Given the description of an element on the screen output the (x, y) to click on. 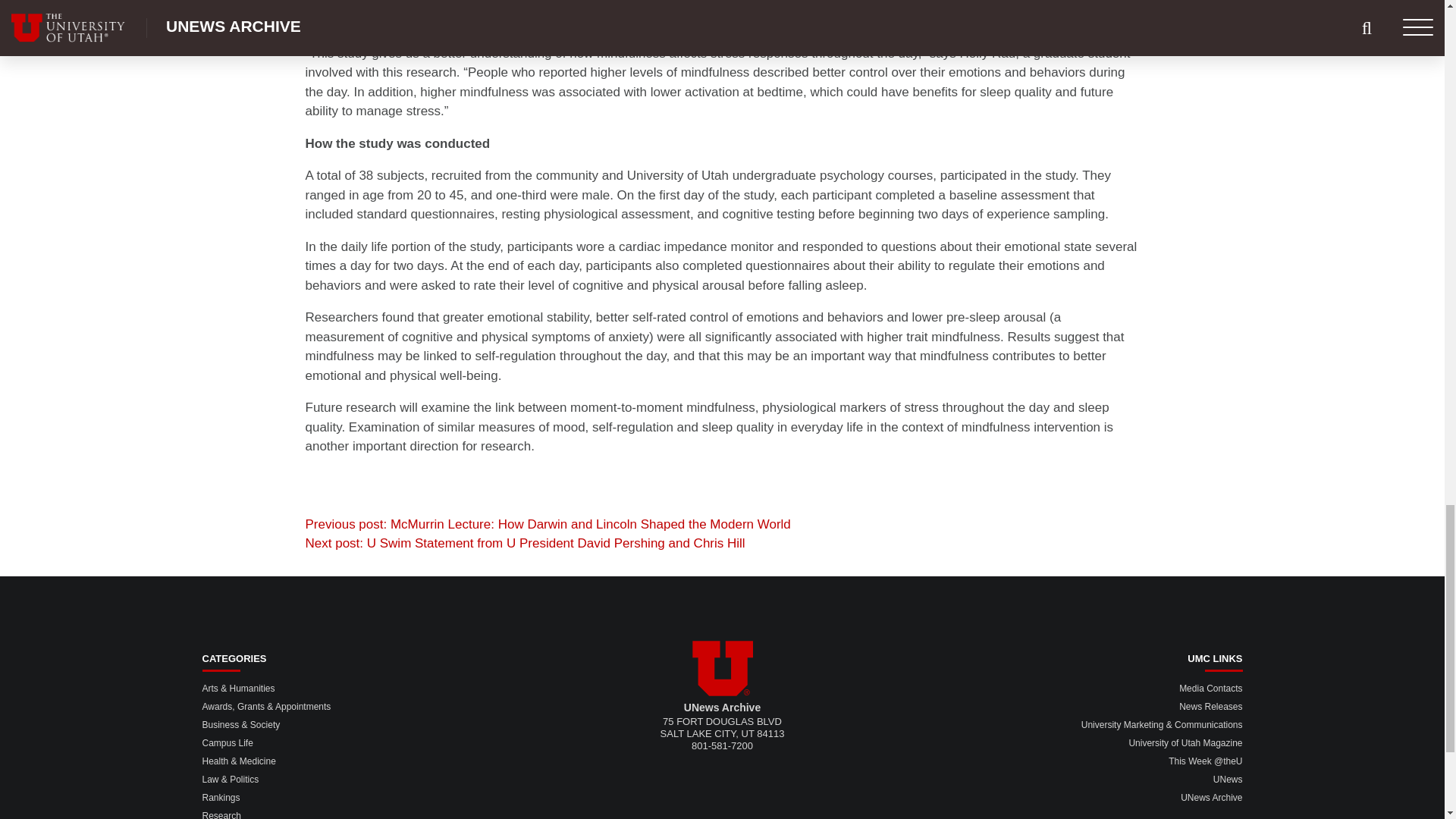
Campus Life (226, 742)
News Releases (1210, 706)
UNews Archive (1210, 797)
Research (221, 814)
University of Utah (721, 668)
Media Contacts (1210, 688)
UNews (1227, 778)
Rankings (221, 797)
University of Utah Magazine (1184, 742)
